Given the description of an element on the screen output the (x, y) to click on. 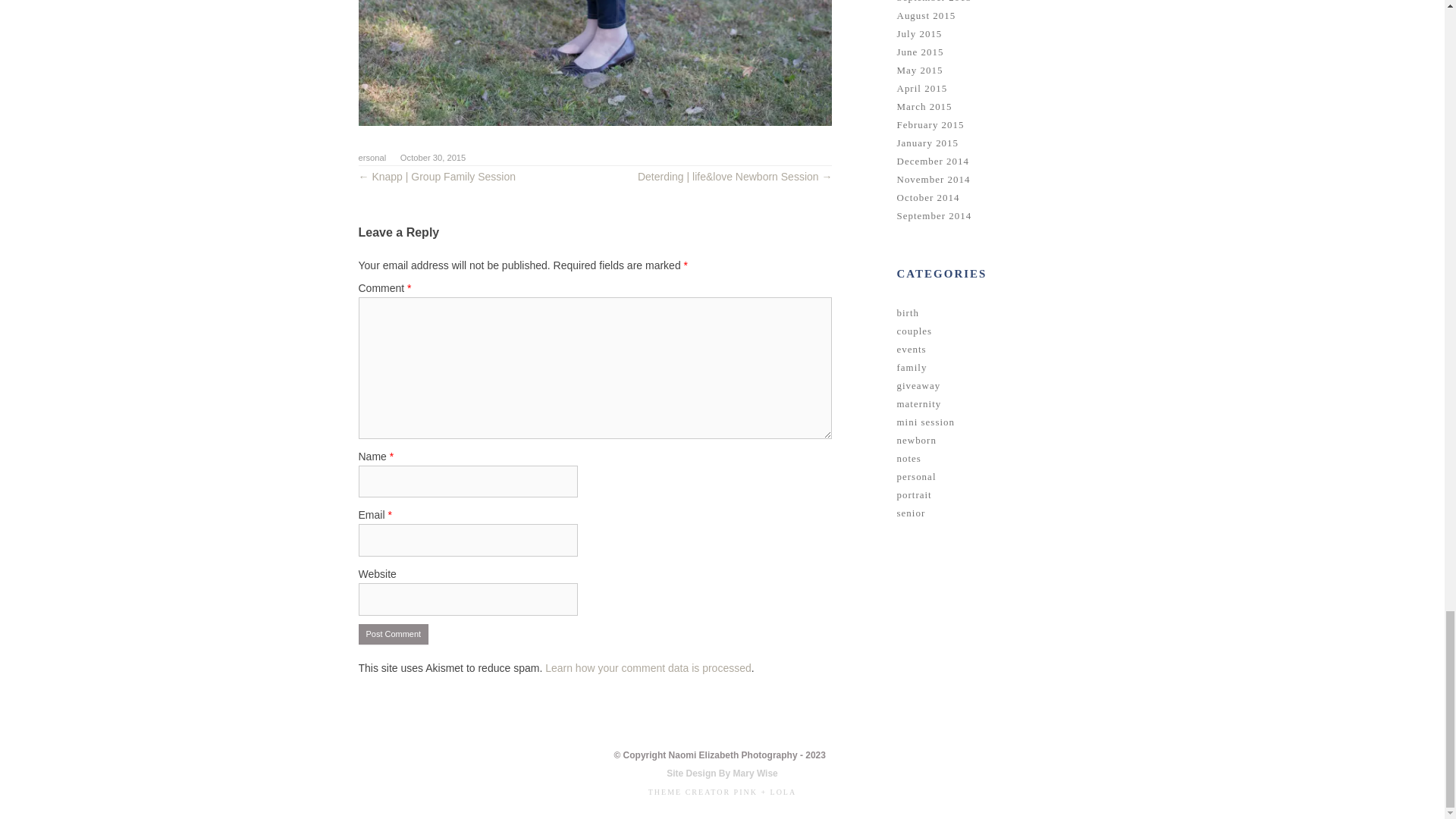
personal (369, 157)
7:18 pm (432, 157)
Wordpress Child Theme  (721, 791)
October 30, 2015 (432, 157)
Post Comment (393, 634)
Post Comment (393, 634)
Learn how your comment data is processed (647, 667)
